Given the description of an element on the screen output the (x, y) to click on. 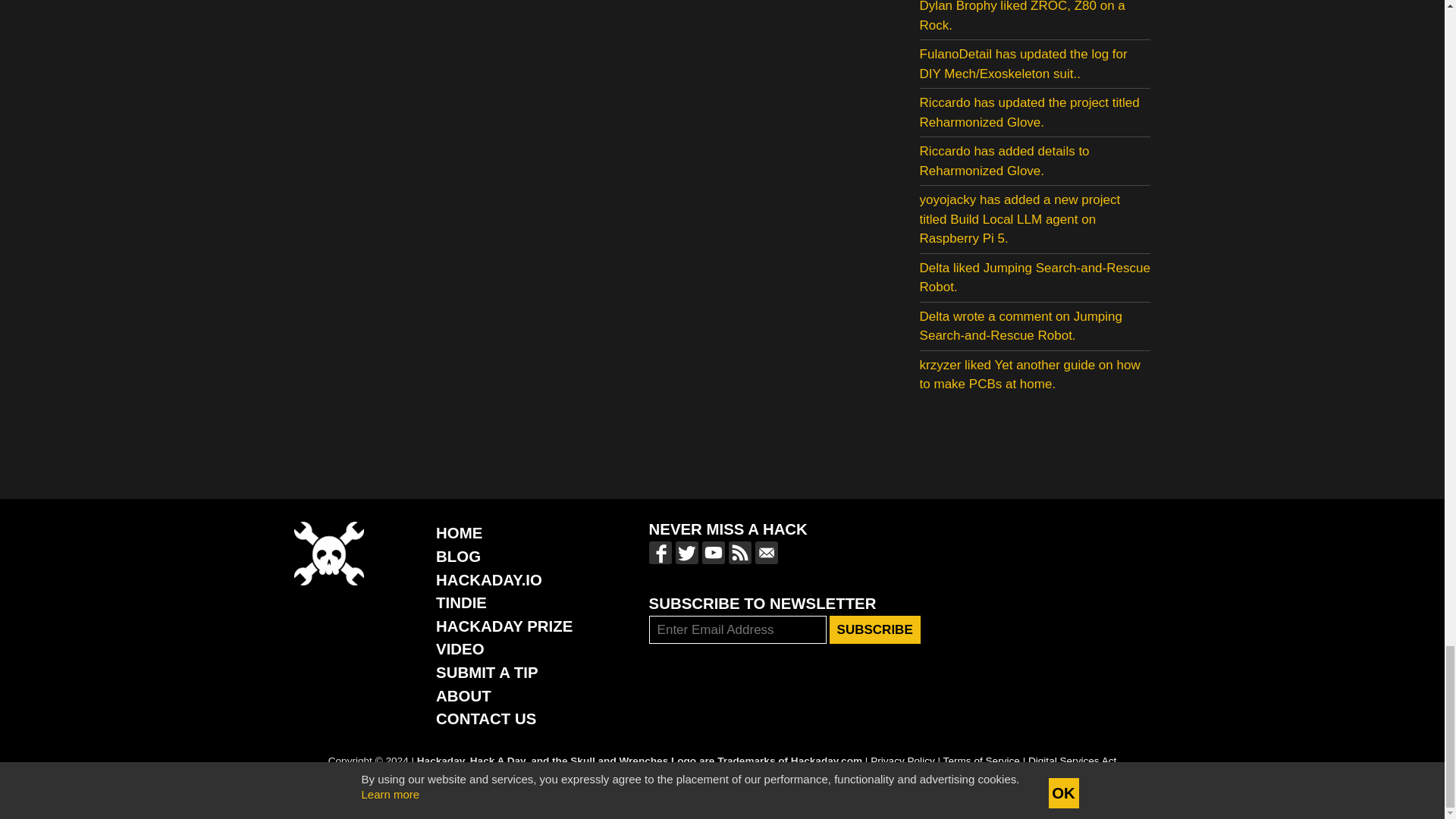
Build Something that Matters (503, 626)
Subscribe (874, 629)
